Given the description of an element on the screen output the (x, y) to click on. 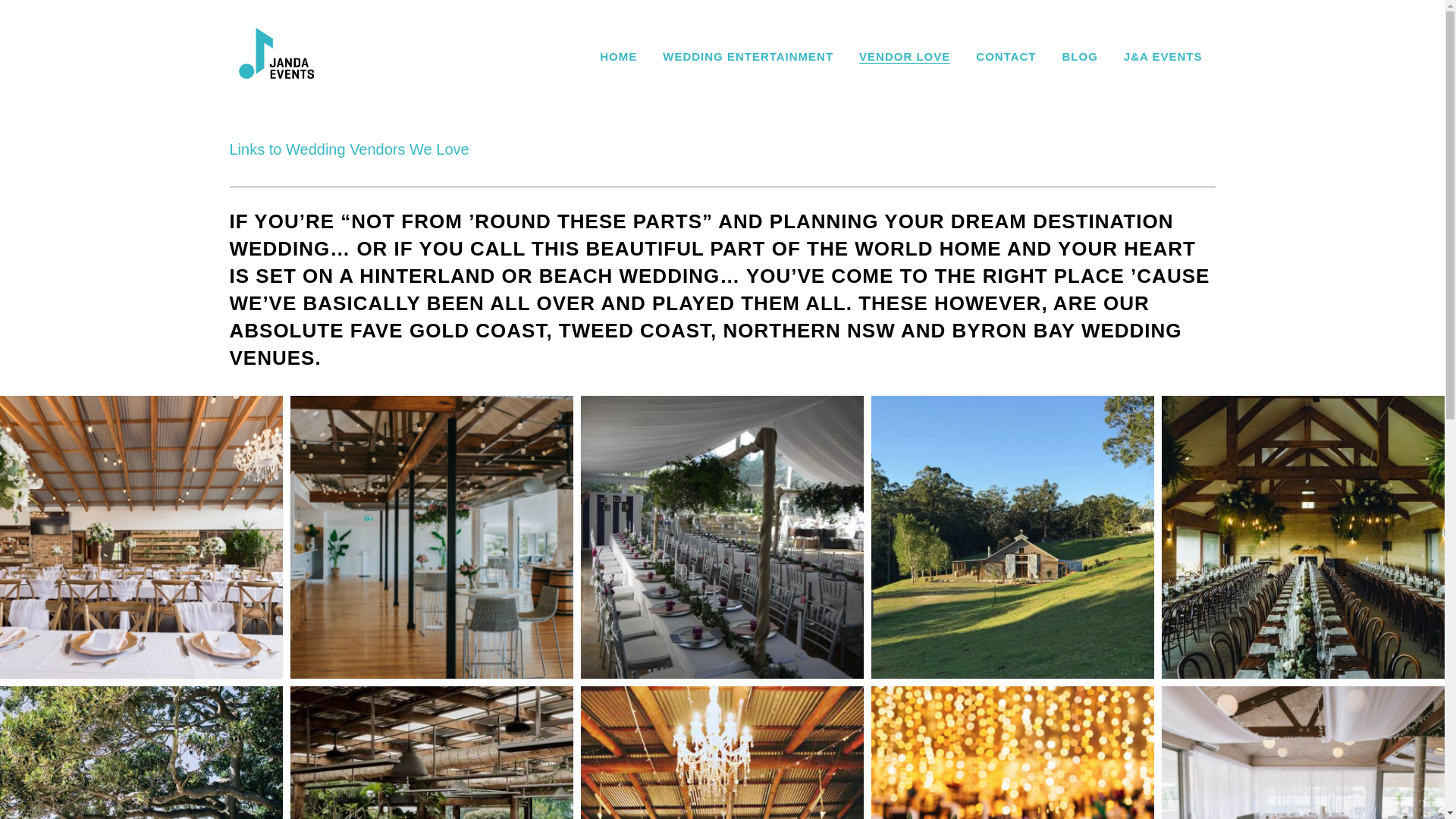
J&A EVENTS Element type: text (1162, 56)
Austinvilla Estate Element type: hover (141, 536)
Babalou Element type: hover (431, 536)
HOME Element type: text (617, 56)
CONTACT Element type: text (1005, 56)
Braeside Chapel Element type: hover (721, 536)
VENDOR LOVE Element type: text (904, 56)
Cowbell Creek Element type: hover (1012, 536)
BLOG Element type: text (1079, 56)
The Earth House Element type: hover (1302, 536)
WEDDING ENTERTAINMENT Element type: text (747, 56)
